Given the description of an element on the screen output the (x, y) to click on. 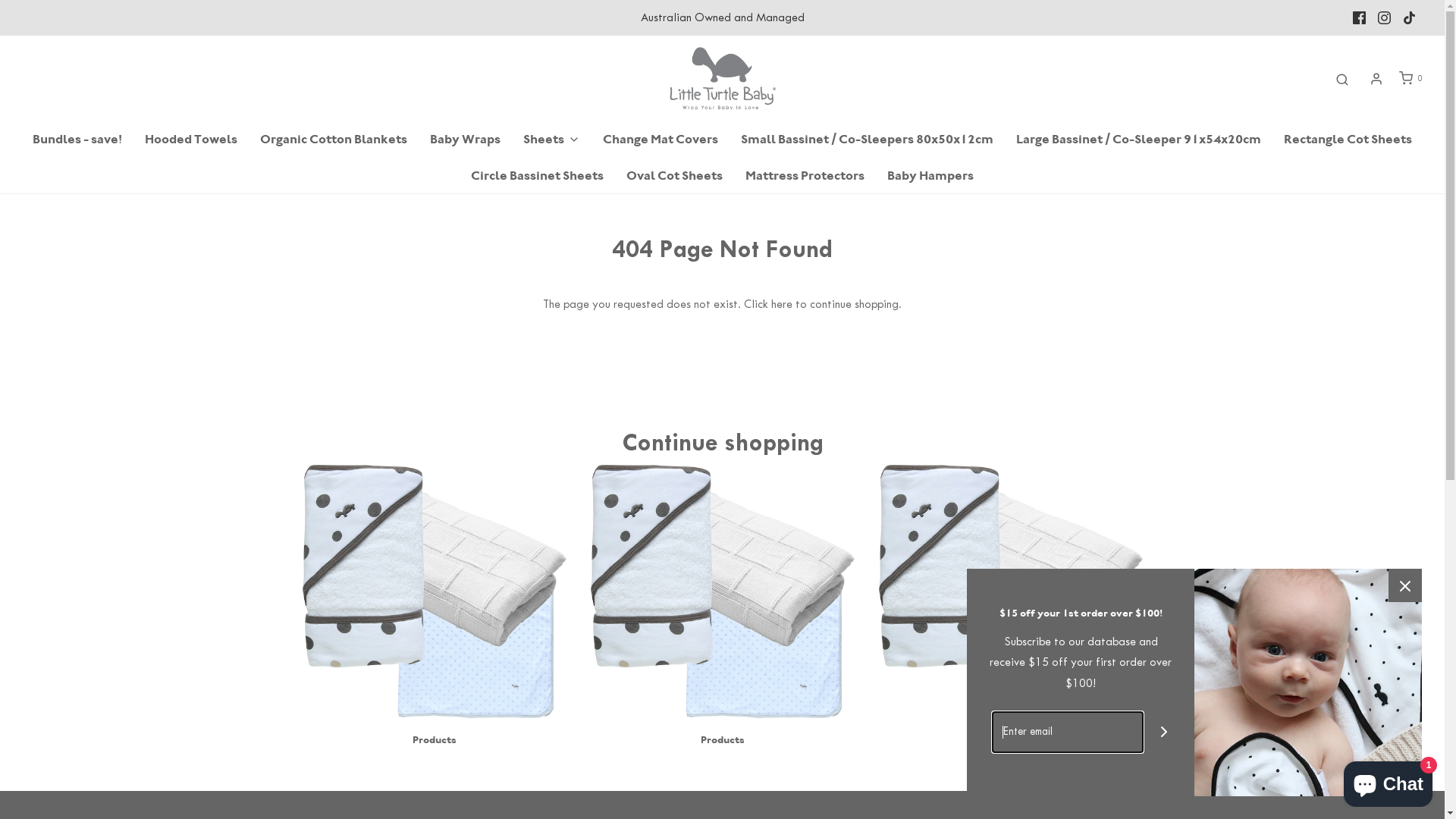
Bundles - save! Element type: text (77, 138)
TikTok icon Element type: text (1408, 17)
Products Element type: text (722, 739)
Hooded Towels Element type: text (190, 138)
Mattress Protectors Element type: text (804, 175)
Log in Element type: hover (1376, 78)
Shopify online store chat Element type: hover (1388, 780)
Facebook icon Element type: text (1358, 17)
Rectangle Cot Sheets Element type: text (1347, 138)
Organic Cotton Blankets Element type: text (333, 138)
Circle Bassinet Sheets Element type: text (536, 175)
Search Element type: hover (1341, 78)
Products Element type: text (1010, 739)
Small Bassinet / Co-Sleepers 80x50x12cm Element type: text (866, 138)
Oval Cot Sheets Element type: text (674, 175)
Products Element type: text (434, 739)
here Element type: text (781, 303)
Instagram icon Element type: text (1383, 17)
0 Element type: text (1408, 78)
Large Bassinet / Co-Sleeper 91x54x20cm Element type: text (1138, 138)
Baby Hampers Element type: text (930, 175)
Change Mat Covers Element type: text (660, 138)
Baby Wraps Element type: text (464, 138)
Sheets Element type: text (551, 138)
